Given the description of an element on the screen output the (x, y) to click on. 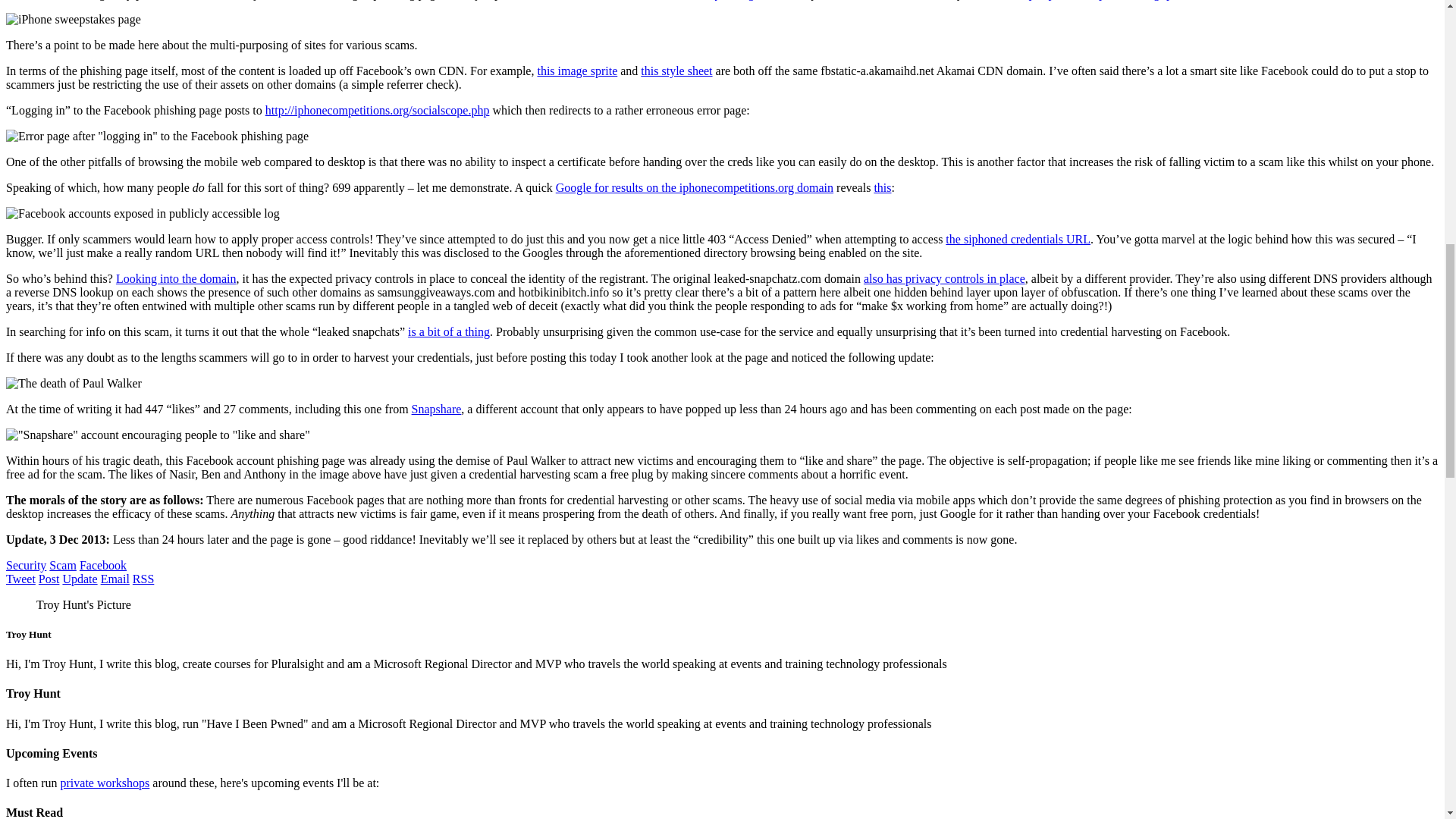
this style sheet (675, 70)
Google for results on the iphonecompetitions.org domain (694, 187)
this image sprite (577, 70)
also has privacy controls in place (944, 278)
Facebook (103, 564)
Security (25, 564)
the siphoned credentials URL (1017, 238)
Looking into the domain (175, 278)
is a bit of a thing (448, 331)
Snapshare (436, 408)
Scam (63, 564)
this (882, 187)
